Given the description of an element on the screen output the (x, y) to click on. 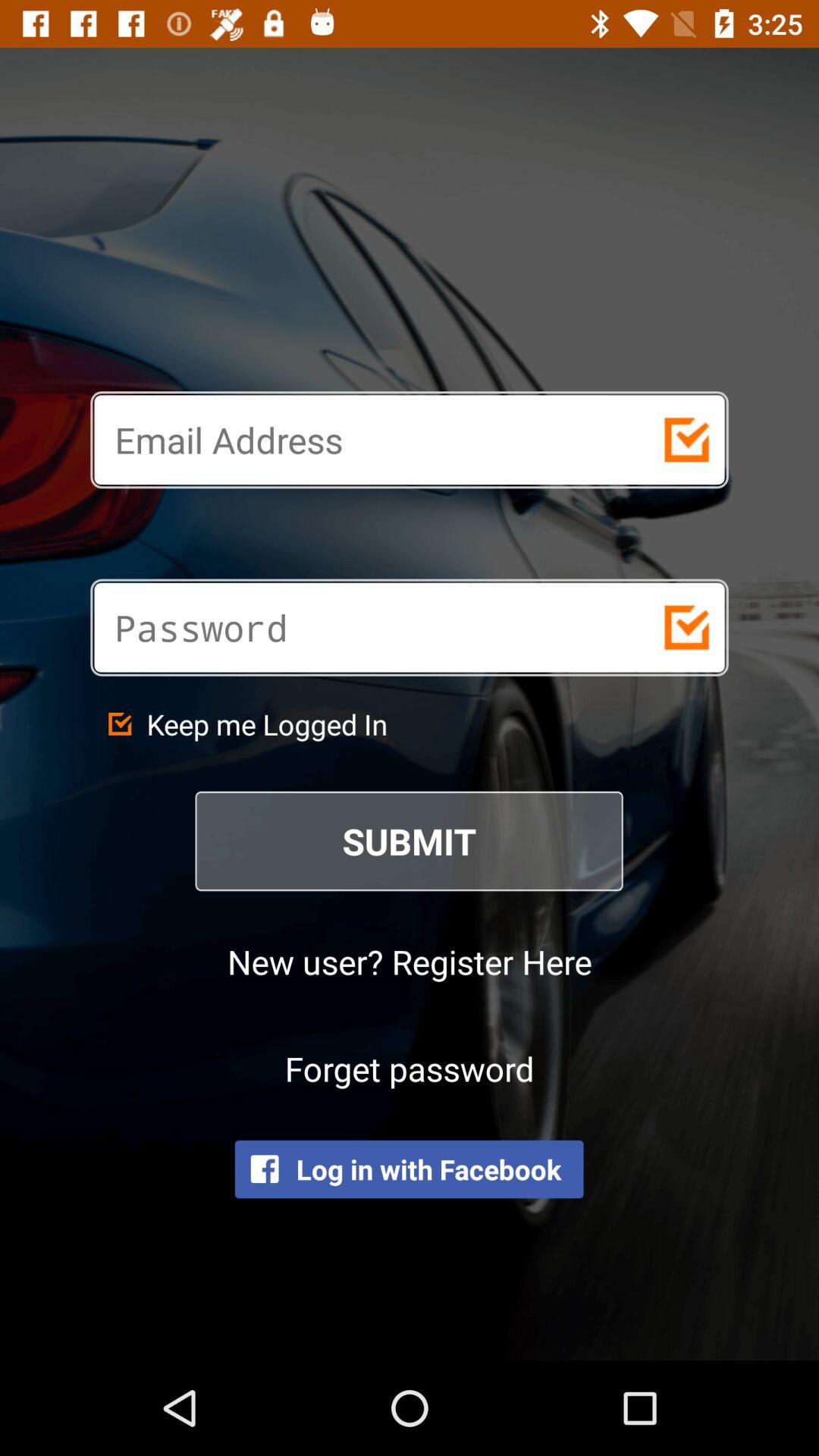
jump until forget password (409, 1068)
